Given the description of an element on the screen output the (x, y) to click on. 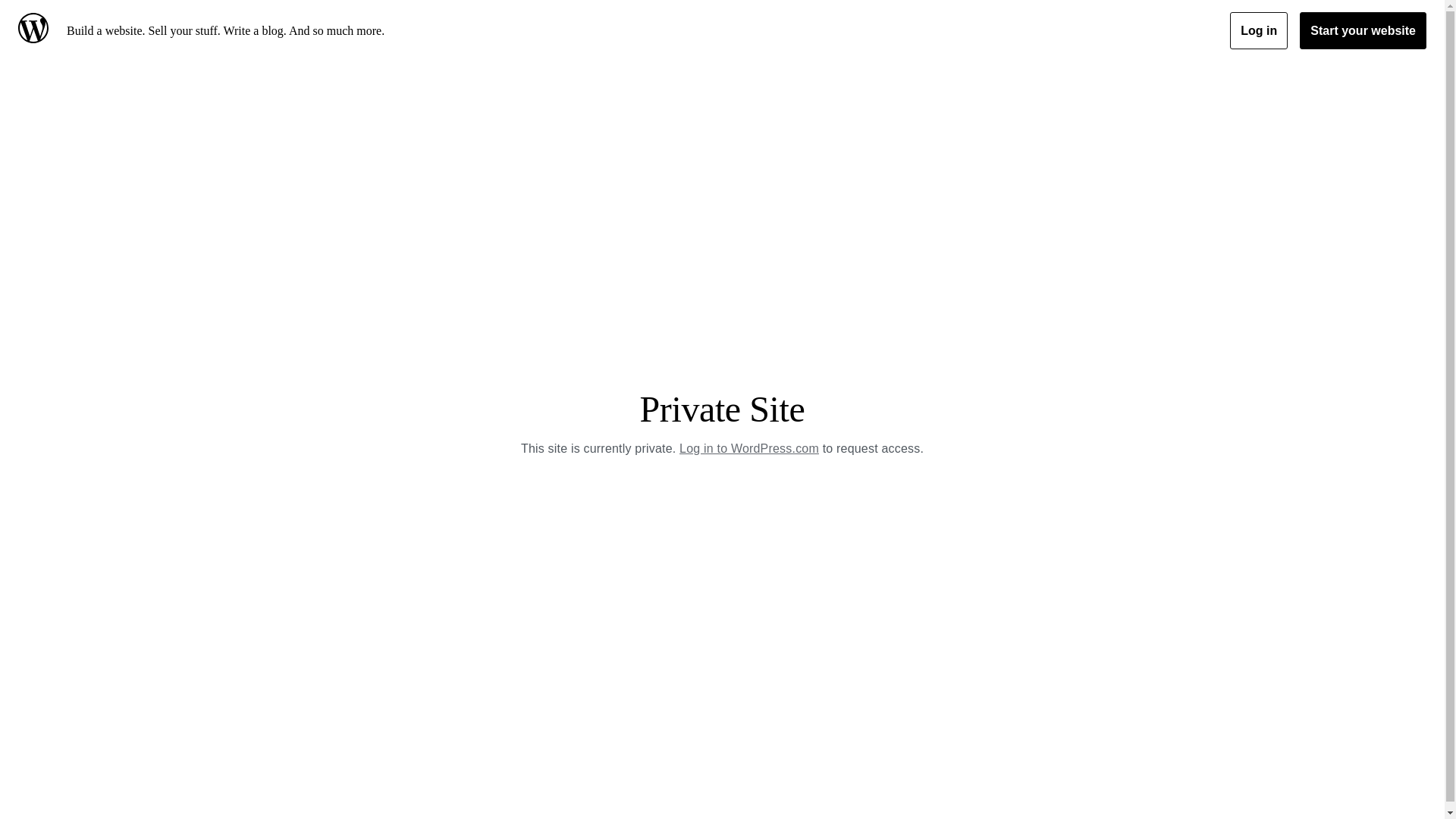
Start your website Element type: text (1362, 30)
Log in Element type: text (1258, 30)
Log in to WordPress.com Element type: text (749, 448)
WordPress.com Element type: text (36, 30)
